Given the description of an element on the screen output the (x, y) to click on. 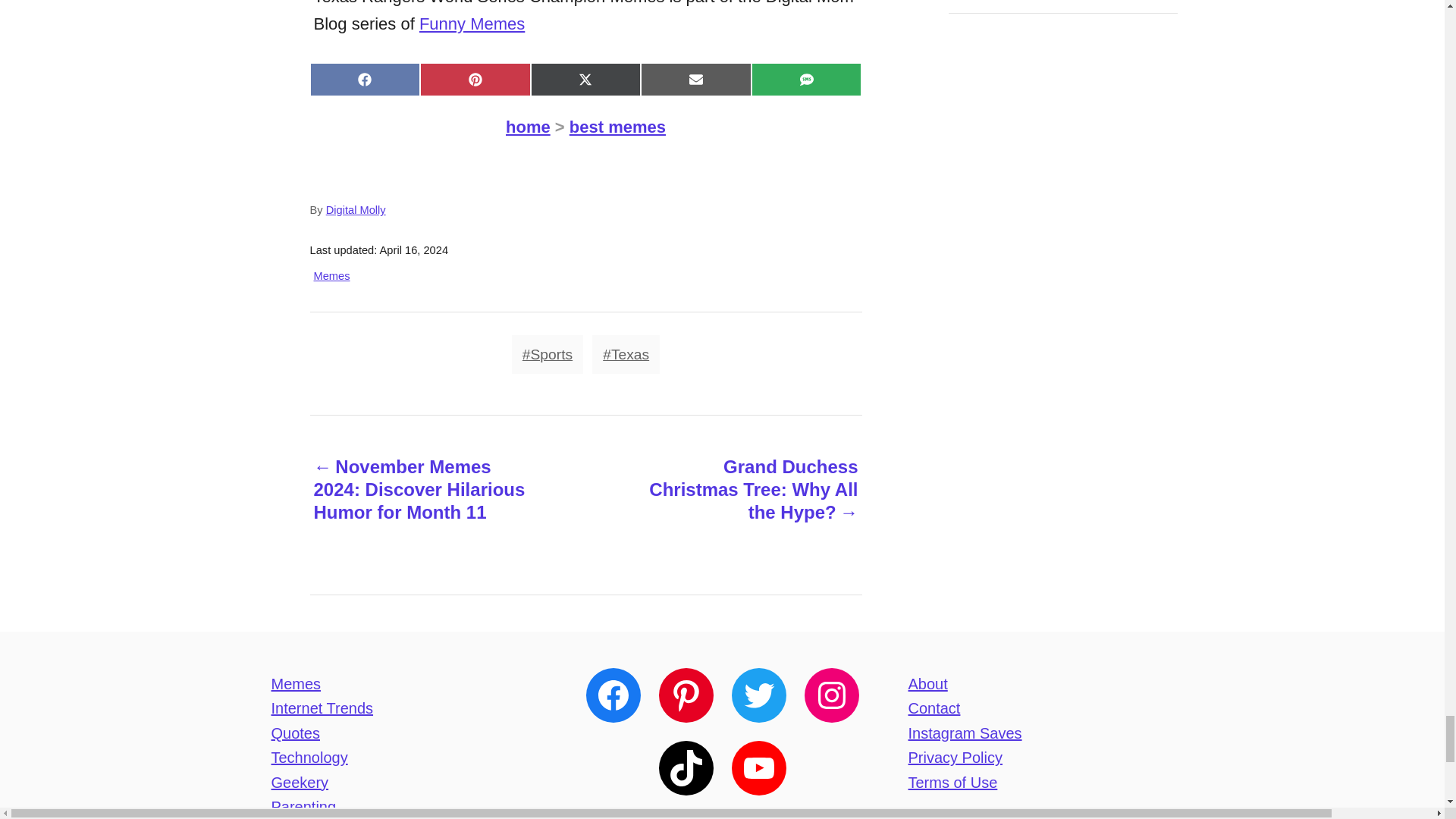
Share on Email (695, 79)
home (527, 126)
November Memes 2024: Discover Hilarious Humor for Month 11 (418, 494)
Digital Molly (355, 209)
Share on Pinterest (475, 79)
best memes (617, 126)
Share on SMS (806, 79)
Grand Duchess Christmas Tree: Why All the Hype? (750, 494)
Funny Memes (471, 23)
Memes (332, 275)
